Given the description of an element on the screen output the (x, y) to click on. 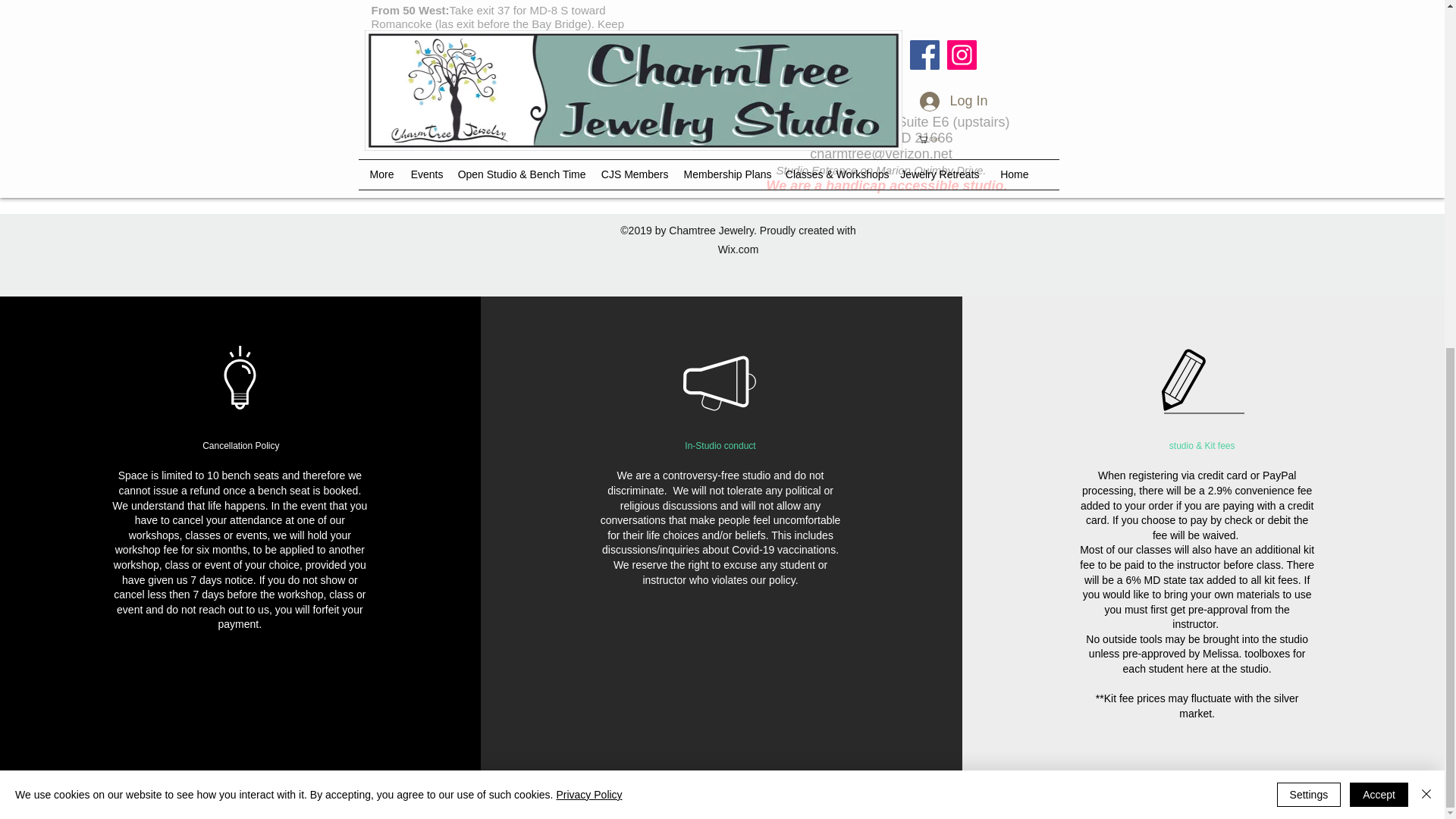
Settings (1308, 193)
Google Maps (895, 48)
Accept (1378, 193)
Privacy Policy (588, 193)
